Given the description of an element on the screen output the (x, y) to click on. 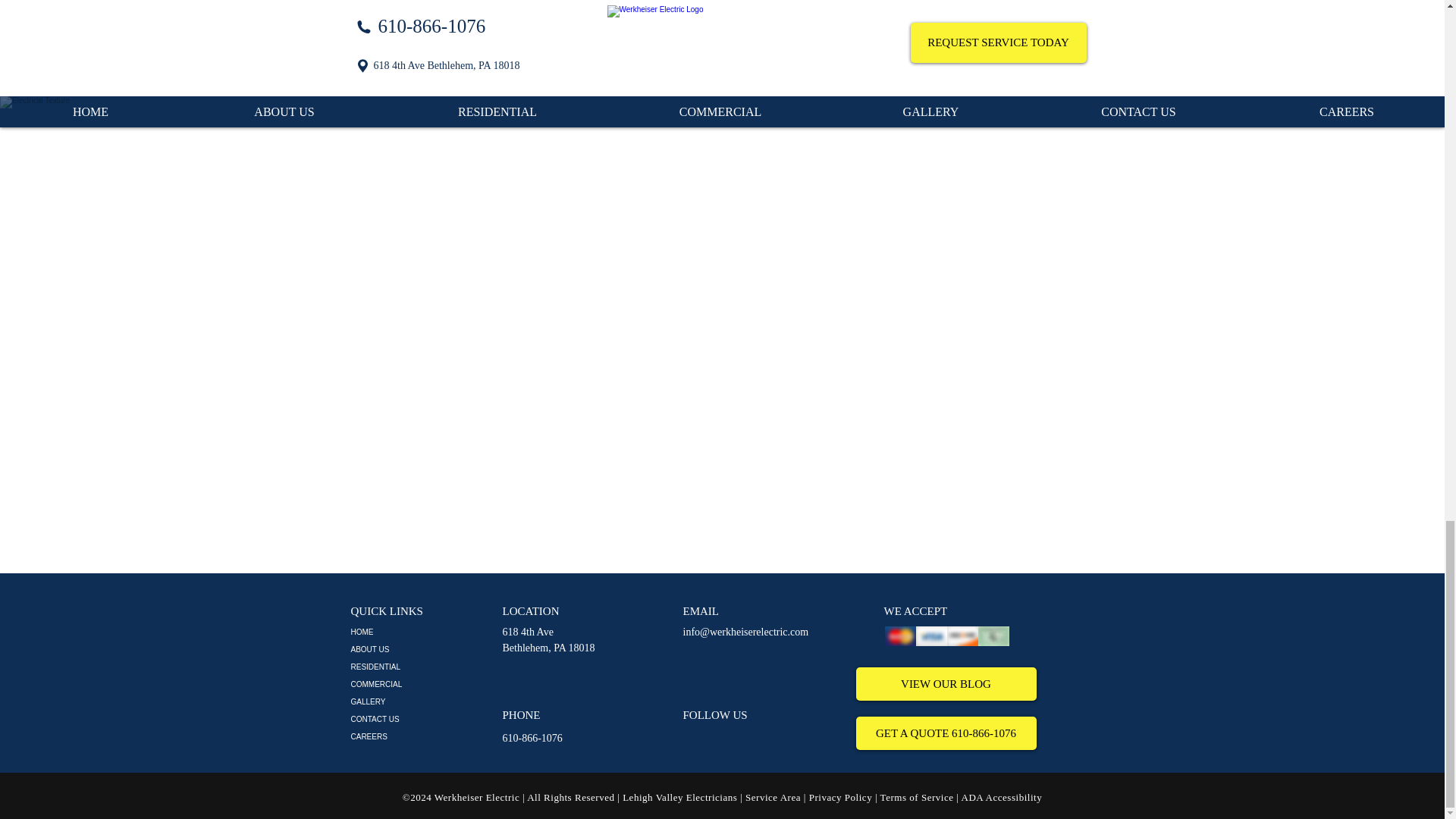
CONTACT US (421, 719)
HOME (421, 631)
COMMERCIAL (421, 683)
ADA Accessibility (1001, 797)
RESIDENTIAL (421, 666)
VIEW OUR BLOG (945, 684)
CAREERS (548, 639)
GET A QUOTE 610-866-1076 (421, 736)
ABOUT US (945, 733)
610-866-1076 (421, 649)
Terms of Service (532, 737)
Lehigh Valley Electricians (916, 797)
Privacy Policy (679, 797)
GALLERY (840, 797)
